Given the description of an element on the screen output the (x, y) to click on. 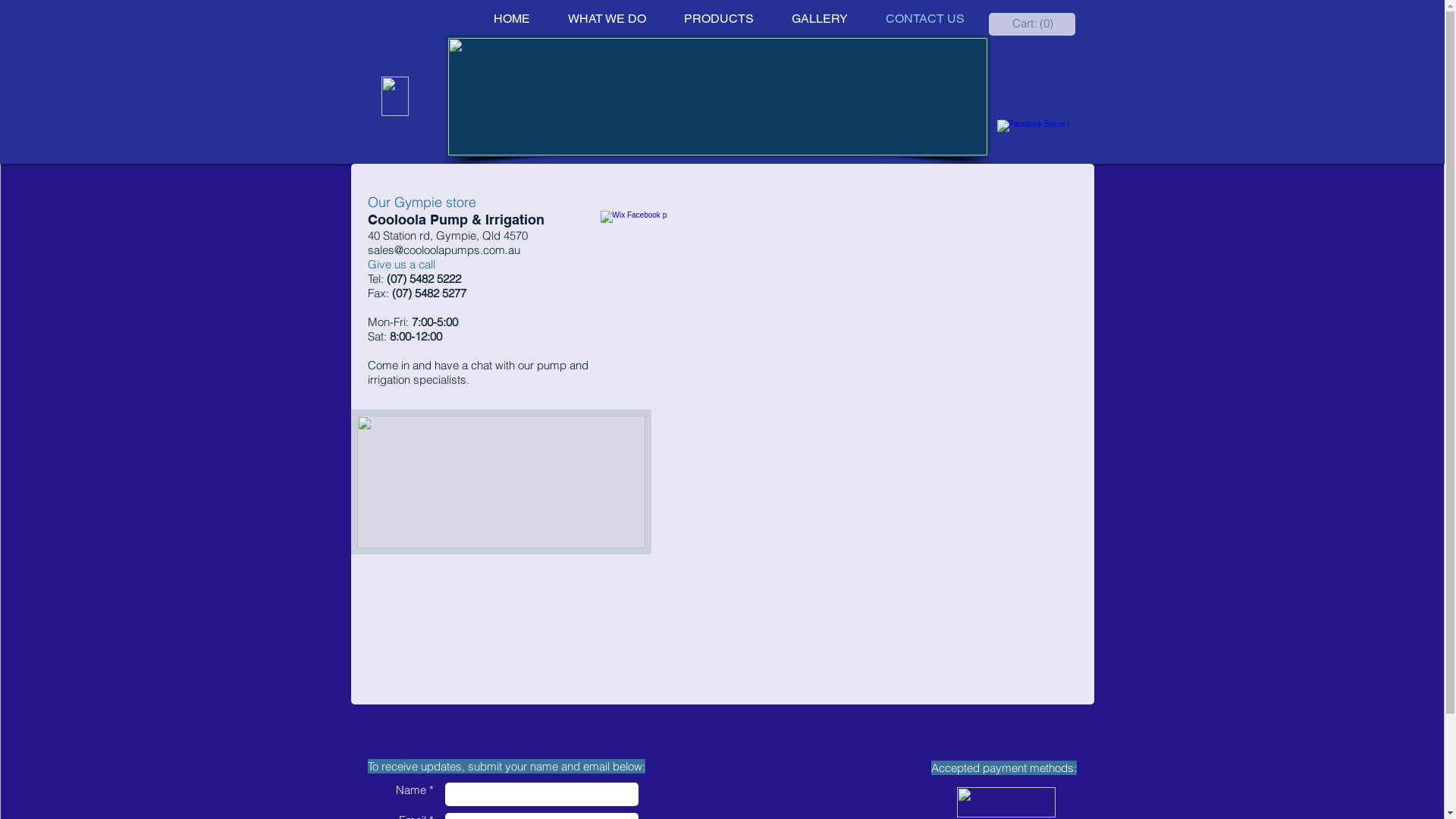
new shop front.jpg Element type: hover (500, 481)
HOME Element type: text (511, 18)
visa_mastercard_logo.gif Element type: hover (1006, 802)
WHAT WE DO Element type: text (607, 18)
PRODUCTS Element type: text (717, 18)
GALLERY Element type: text (818, 18)
CONTACT US Element type: text (924, 18)
sales@cooloolapumps.com.au Element type: text (443, 249)
Cart: (0) Element type: text (1031, 23)
